Given the description of an element on the screen output the (x, y) to click on. 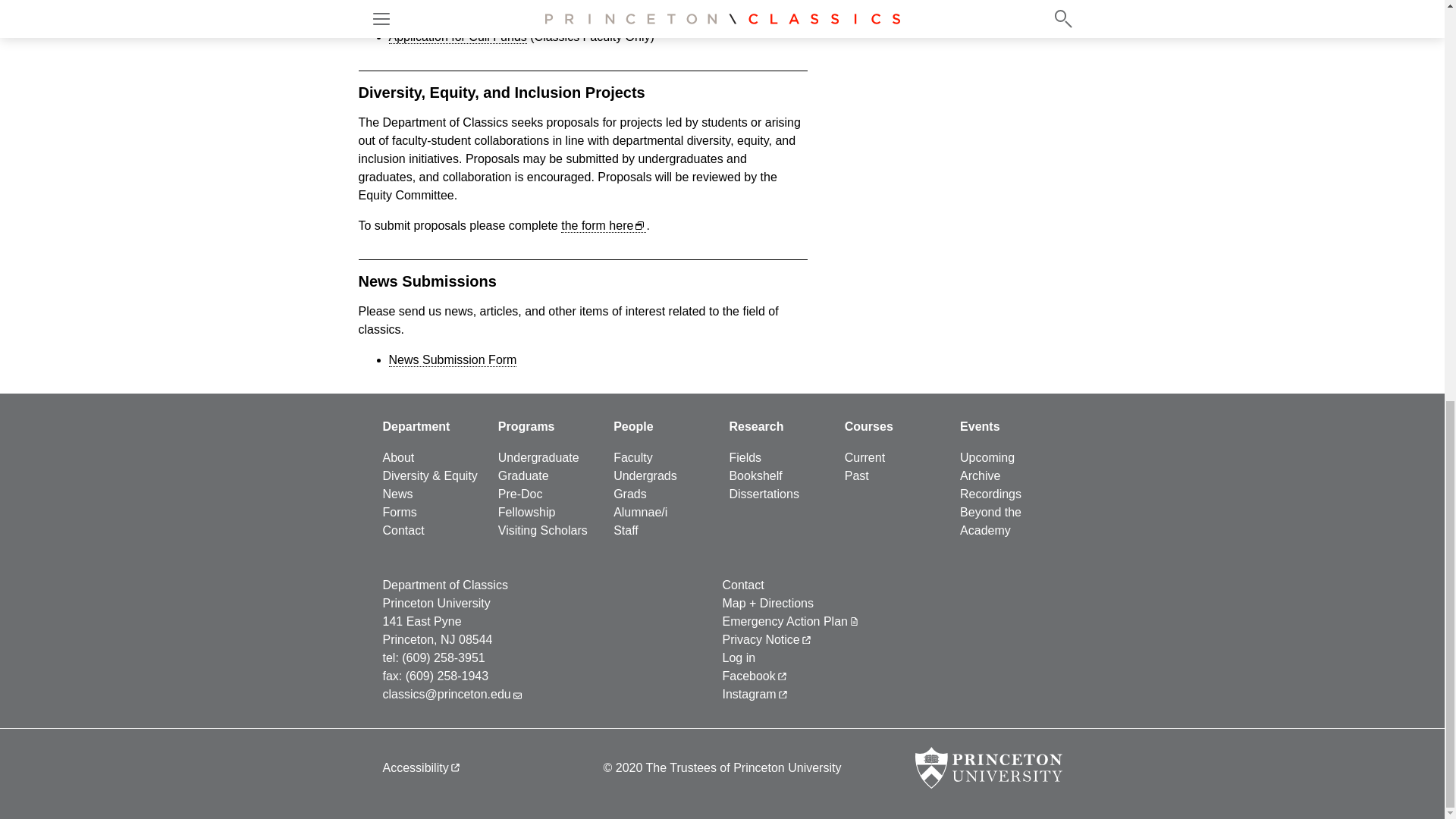
Link is external (806, 637)
Link opens in new window (638, 224)
Link is external (781, 674)
Link is external (455, 766)
Link sends email (517, 692)
Link downloads document (854, 619)
Link is external (782, 692)
